Given the description of an element on the screen output the (x, y) to click on. 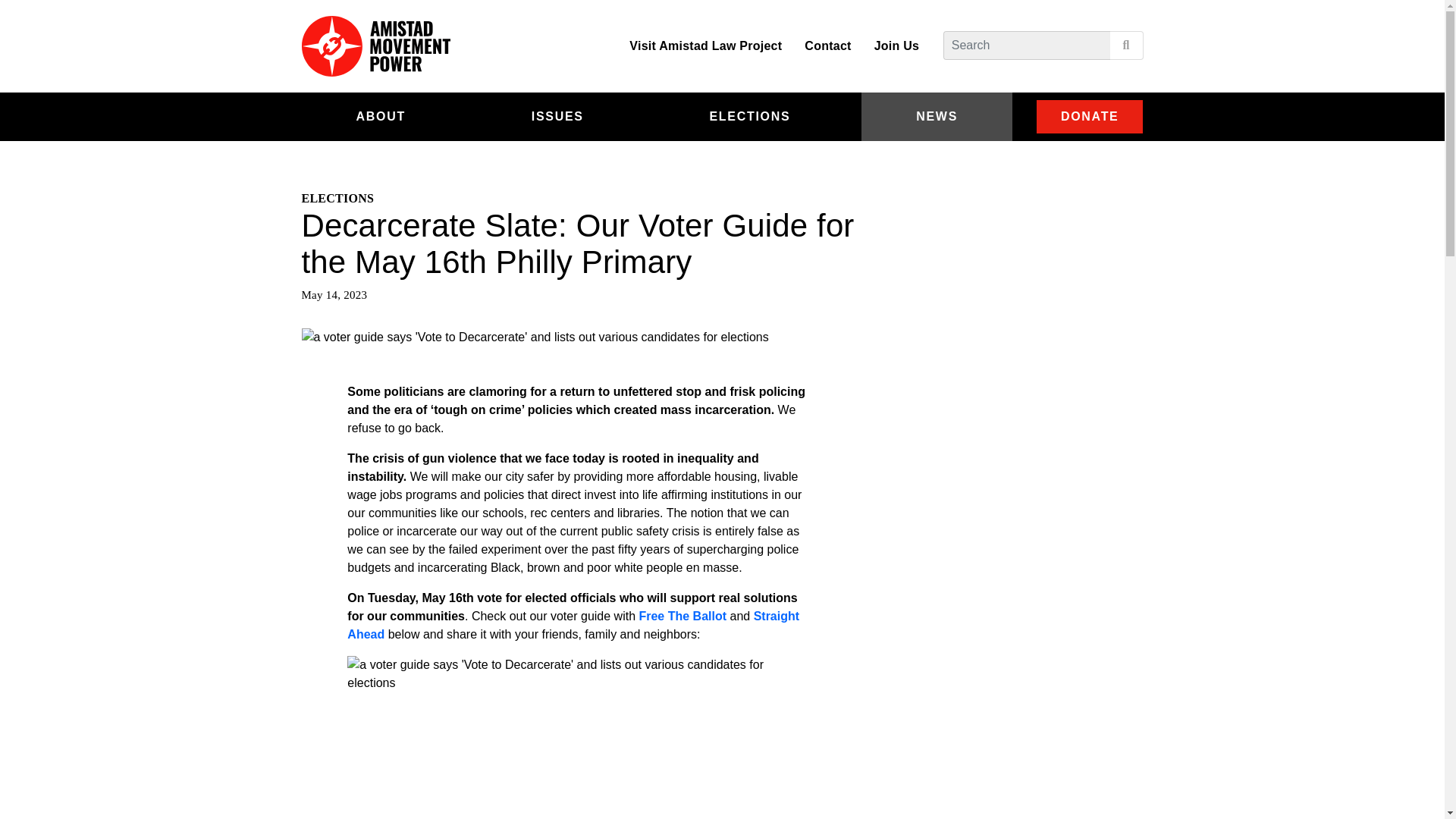
ELECTIONS (750, 116)
Join Us (903, 45)
Free The Ballot (684, 615)
ABOUT (380, 116)
Contact (827, 45)
Visit Amistad Law Project (705, 45)
Enter the terms you wish to search for. (1026, 45)
ISSUES (558, 116)
DONATE (1089, 116)
